Given the description of an element on the screen output the (x, y) to click on. 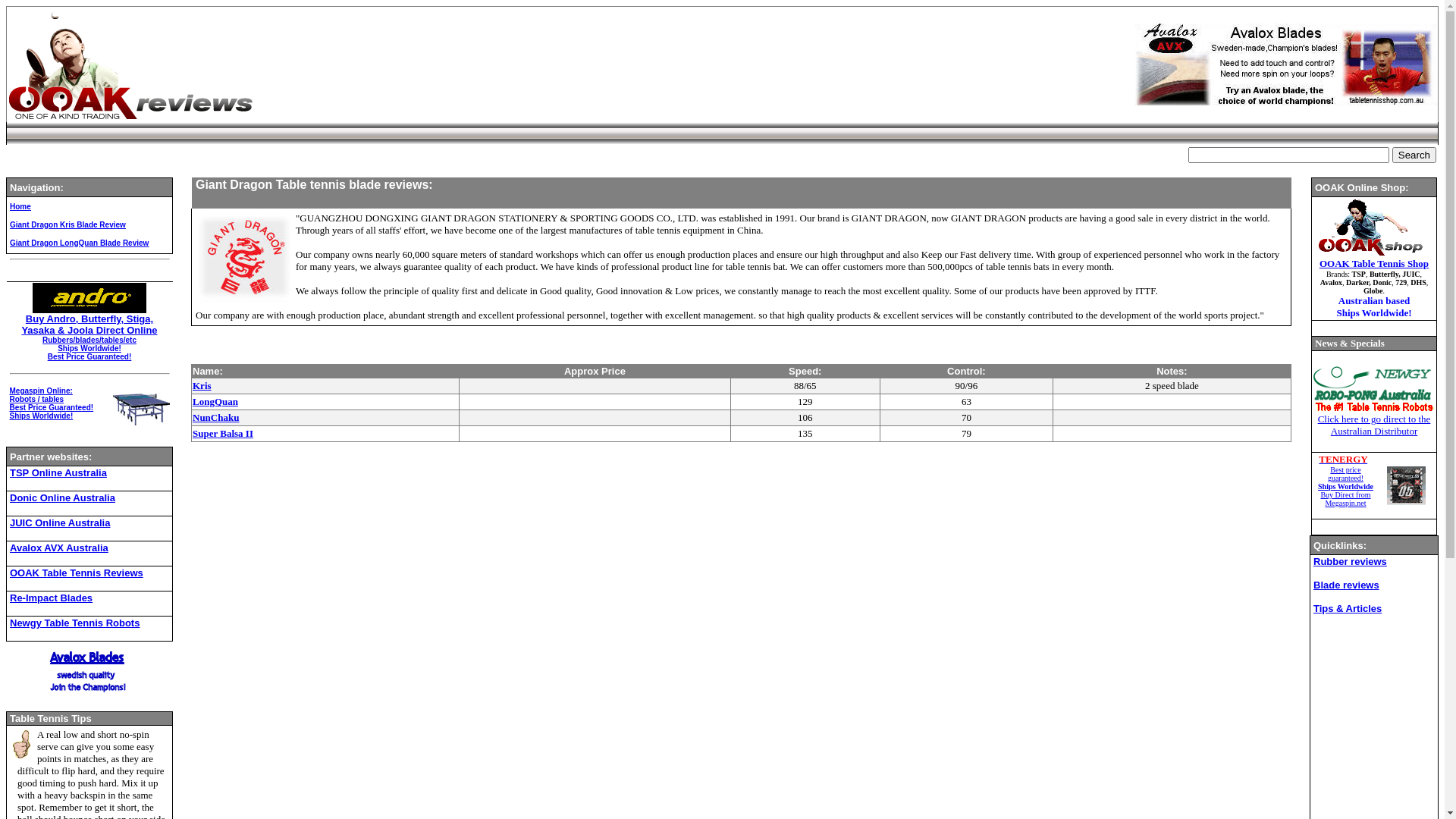
OOAK Table Tennis Shop Element type: text (1373, 263)
Search Element type: text (1414, 155)
TSP Online Australia Element type: text (57, 472)
Tips & Articles Element type: text (1347, 607)
Buy Direct from Megaspin.net Element type: text (1345, 498)
Best price guaranteed! Element type: text (1345, 473)
Donic Online Australia Element type: text (62, 497)
Ships Worldwide! Element type: text (40, 415)
Re-Impact Blades Element type: text (50, 597)
Newgy Table Tennis Robots Element type: text (74, 621)
Rubber reviews Element type: text (1349, 560)
Super Balsa II Element type: text (222, 433)
Rubbers/blades/tables/etc Element type: text (89, 339)
LongQuan Element type: text (215, 401)
Home Element type: text (20, 206)
Click here to go direct to the Australian Distributor Element type: text (1373, 424)
Kris Element type: text (201, 385)
Buy Andro, Butterfly, Stiga, Yasaka & Joola Direct Online Element type: text (88, 324)
Avalox AVX Australia Element type: text (58, 547)
Giant Dragon LongQuan Blade Review Element type: text (78, 242)
Robots / tables Element type: text (36, 399)
NunChaku Element type: text (215, 417)
Blade reviews Element type: text (1346, 583)
JUIC Online Australia Element type: text (59, 522)
Megaspin Online: Element type: text (40, 390)
OOAK Table Tennis Reviews Element type: text (76, 572)
Best Price Guaranteed! Element type: text (51, 407)
Ships Worldwide! Element type: text (89, 348)
TENERGY Element type: text (1342, 458)
Giant Dragon Kris Blade Review Element type: text (67, 224)
Best Price Guaranteed! Element type: text (89, 356)
Ships Worldwide Element type: text (1345, 486)
